Given the description of an element on the screen output the (x, y) to click on. 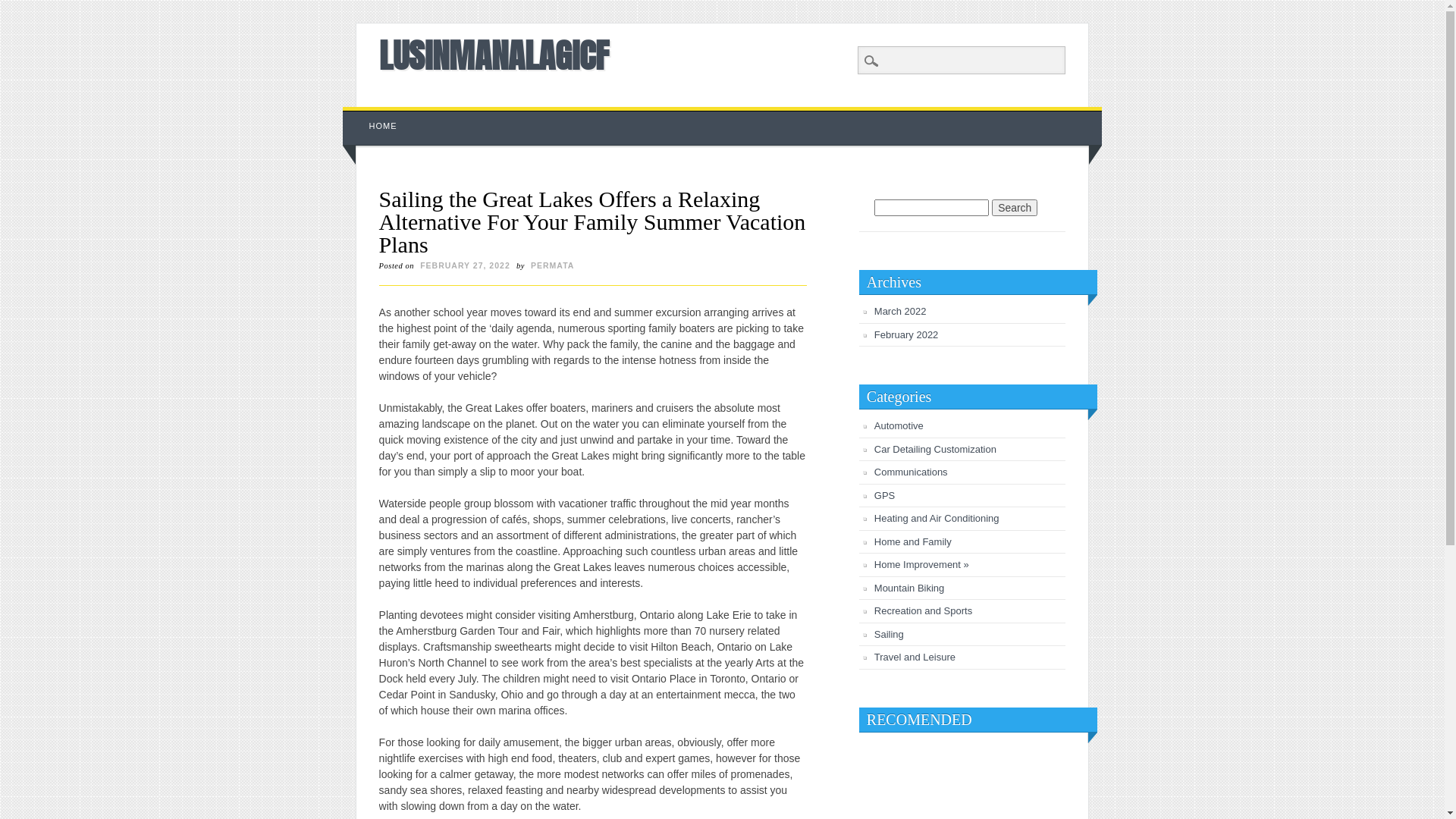
Recreation and Sports Element type: text (923, 610)
HOME Element type: text (383, 125)
March 2022 Element type: text (900, 310)
Car Detailing Customization Element type: text (935, 449)
Sailing Element type: text (888, 634)
GPS Element type: text (884, 495)
February 2022 Element type: text (906, 334)
Communications Element type: text (910, 471)
Mountain Biking Element type: text (909, 587)
Search Element type: text (1014, 207)
FEBRUARY 27, 2022 Element type: text (465, 264)
PERMATA Element type: text (552, 264)
Travel and Leisure Element type: text (914, 656)
Heating and Air Conditioning Element type: text (936, 518)
Search Element type: text (22, 8)
Automotive Element type: text (898, 425)
LUSINMANALAGICF Element type: text (493, 55)
Home and Family Element type: text (912, 541)
Skip to content Element type: text (377, 114)
